Given the description of an element on the screen output the (x, y) to click on. 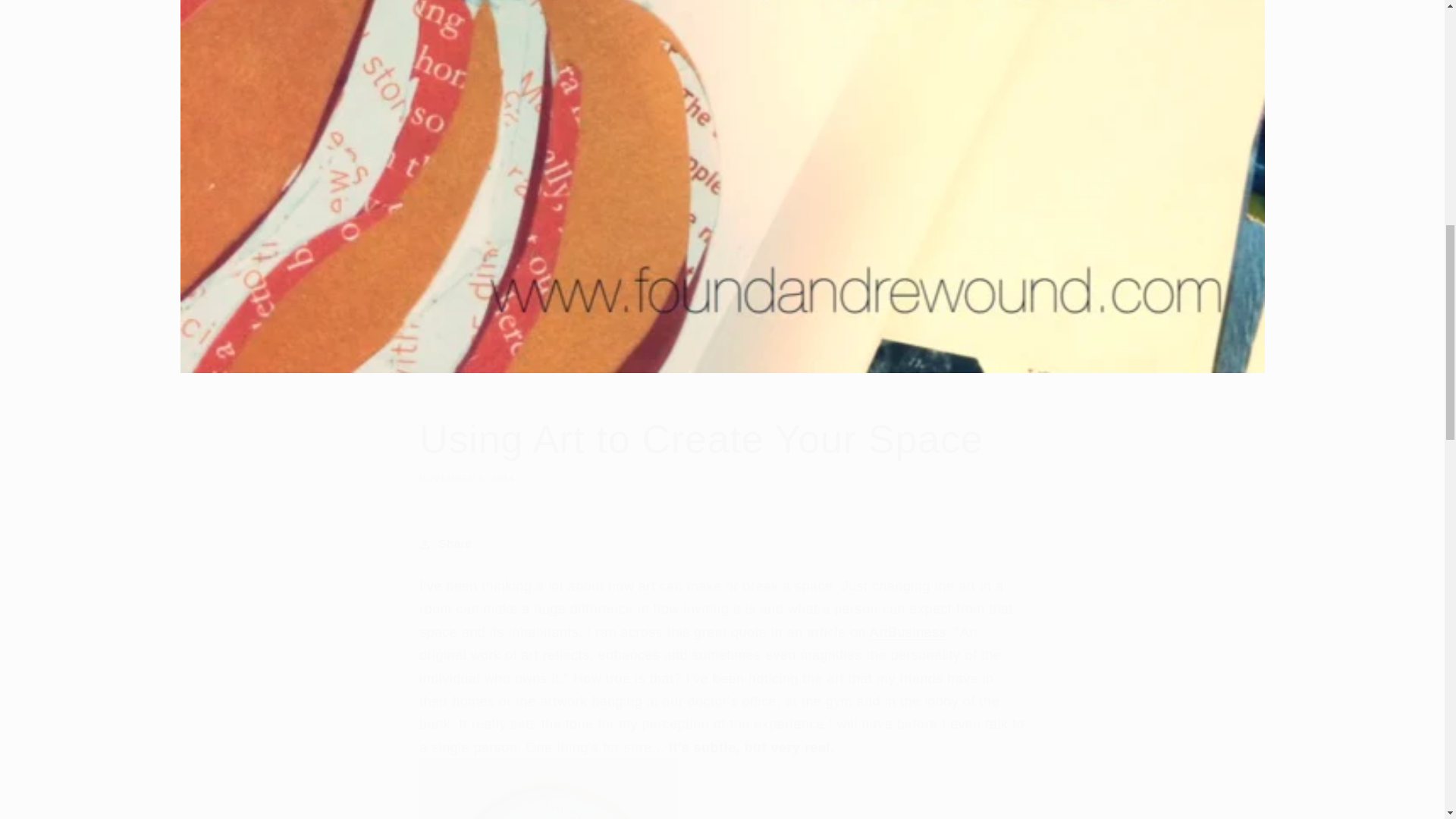
Share (722, 543)
